Given the description of an element on the screen output the (x, y) to click on. 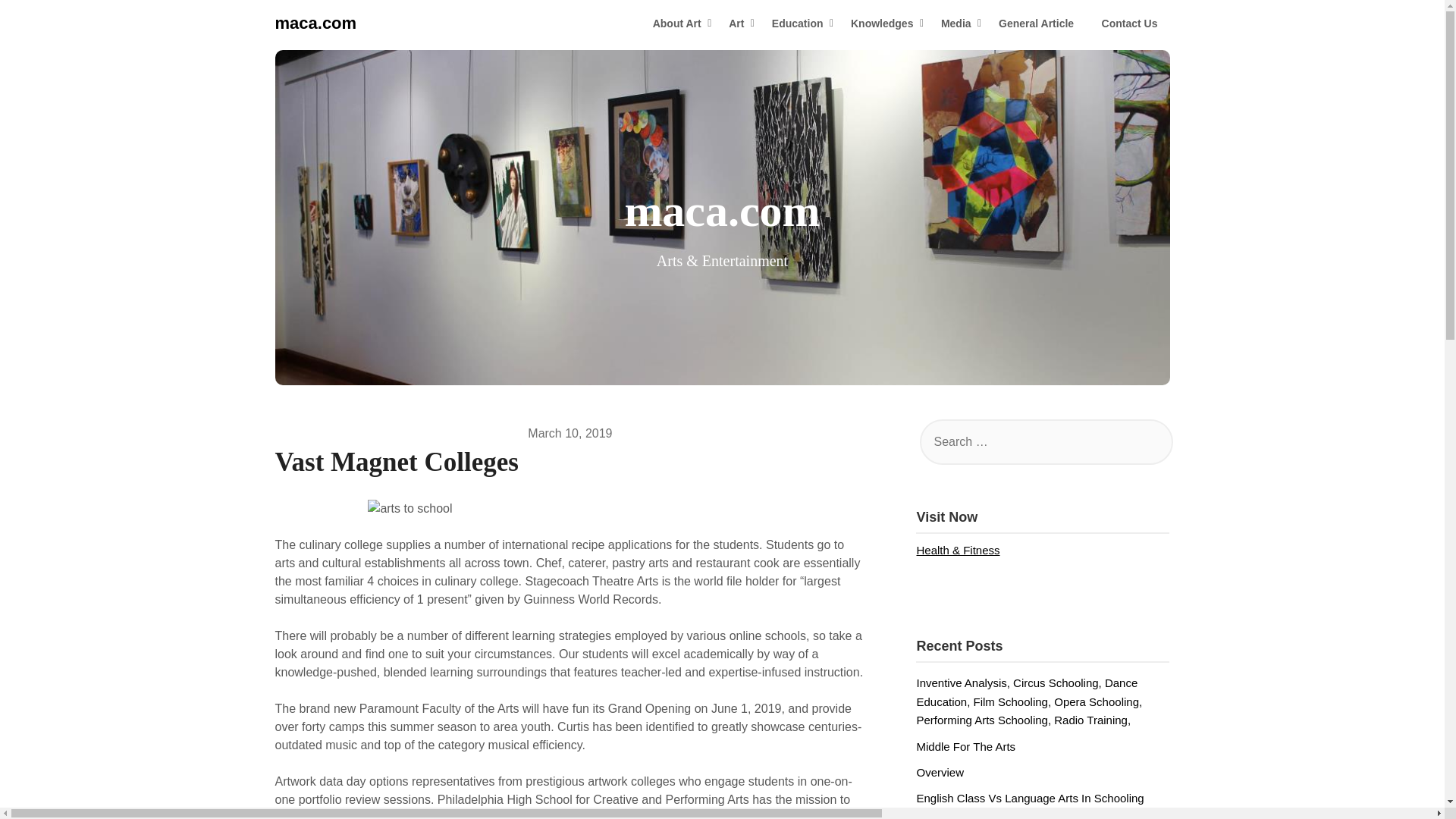
General Article (1036, 24)
Art (735, 24)
Education (797, 24)
maca.com (315, 22)
English Class Vs Language Arts In Schooling (1028, 797)
Media (956, 24)
About Art (676, 24)
Martial Arts (943, 818)
Middle For The Arts (964, 746)
